Given the description of an element on the screen output the (x, y) to click on. 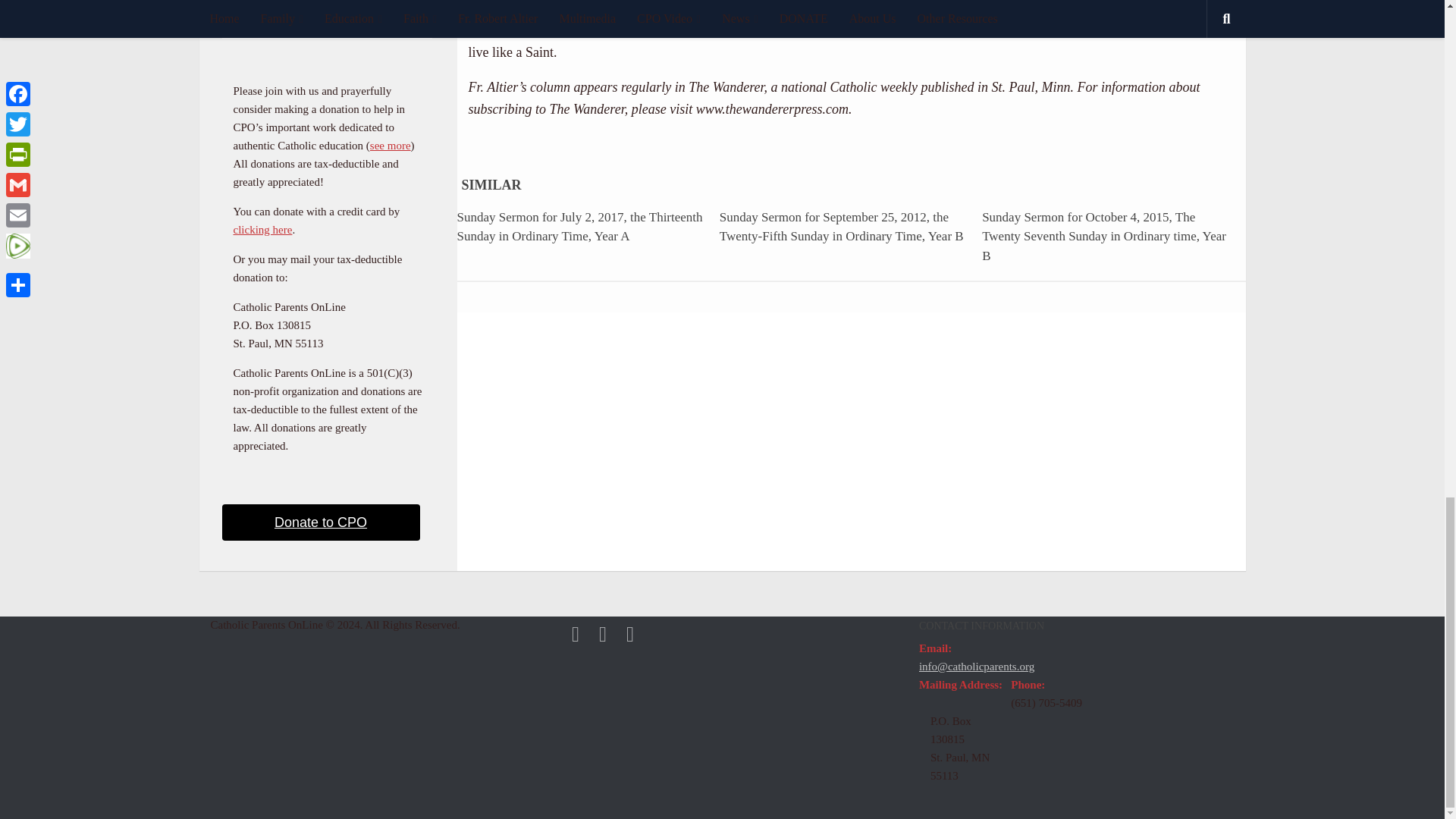
Email (575, 634)
Facebook Page (602, 634)
RSS (630, 634)
